Given the description of an element on the screen output the (x, y) to click on. 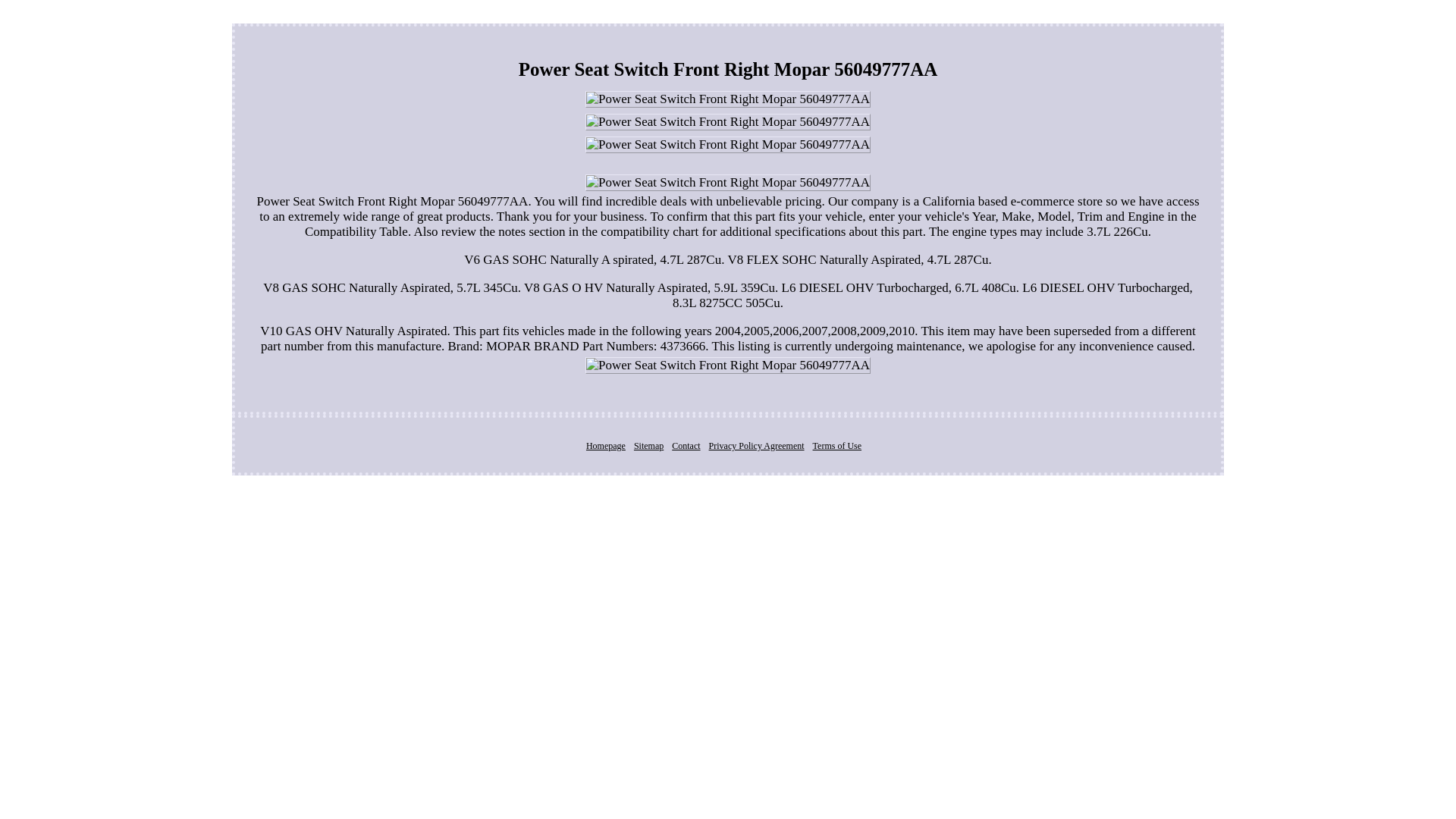
Power Seat Switch Front Right Mopar 56049777AA (727, 144)
Homepage (606, 445)
Privacy Policy Agreement (757, 445)
Sitemap (648, 445)
Power Seat Switch Front Right Mopar 56049777AA (727, 182)
Power Seat Switch Front Right Mopar 56049777AA (727, 98)
Power Seat Switch Front Right Mopar 56049777AA (727, 365)
Power Seat Switch Front Right Mopar 56049777AA (727, 121)
Contact (685, 445)
Terms of Use (836, 445)
